Given the description of an element on the screen output the (x, y) to click on. 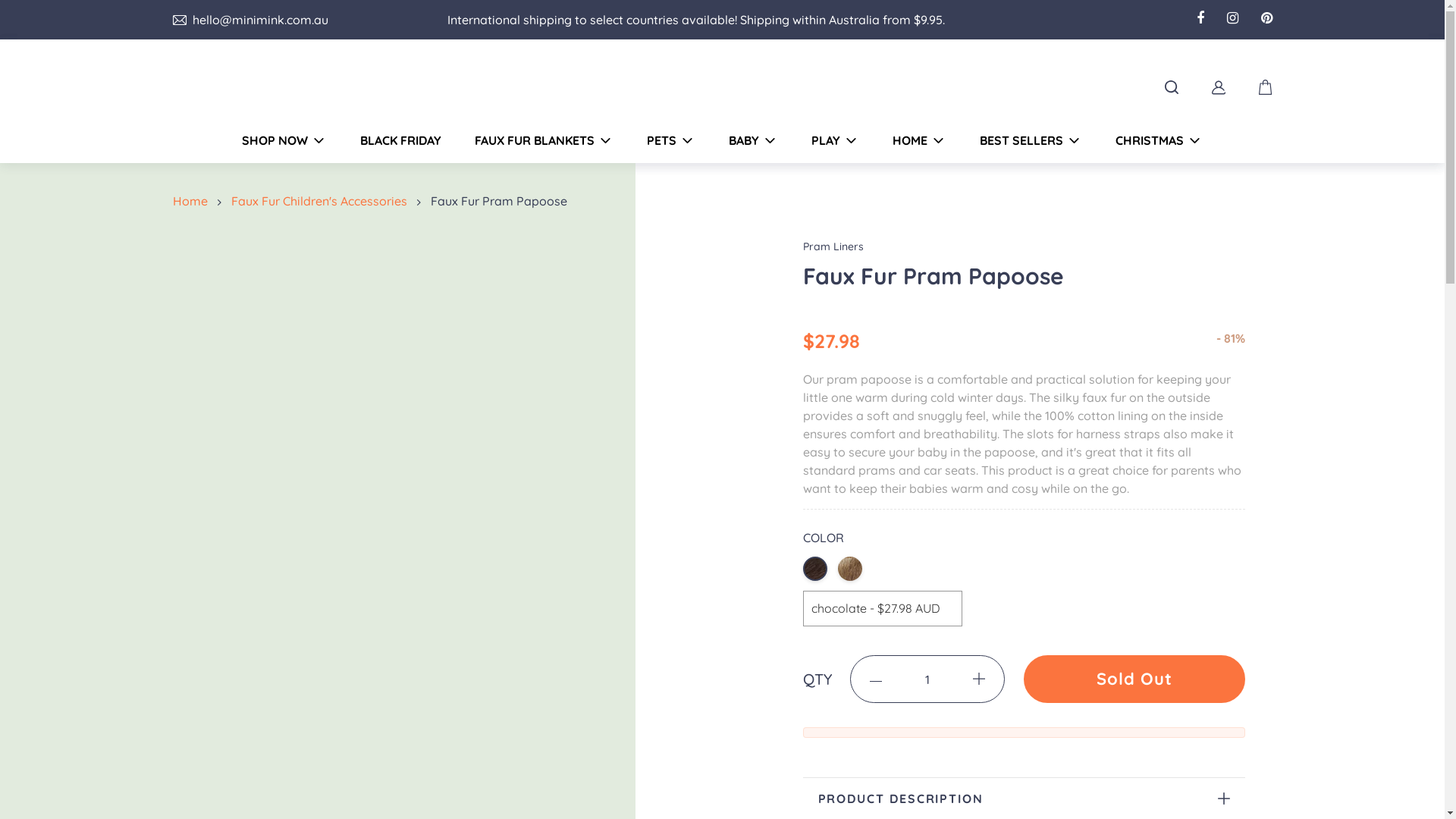
PETS Element type: text (670, 140)
Log in Element type: hover (1218, 86)
HOME Element type: text (919, 140)
Faux Fur Children'S Accessories Element type: text (320, 200)
PLAY Element type: text (835, 140)
Home Element type: text (192, 200)
loading...
Sold Out Element type: text (1134, 678)
BLACK FRIDAY Element type: text (400, 140)
hello@minimink.com.au Element type: text (257, 19)
FAUX FUR BLANKETS Element type: text (543, 140)
BABY Element type: text (753, 140)
CHRISTMAS Element type: text (1158, 140)
BEST SELLERS Element type: text (1030, 140)
SHOP NOW Element type: text (284, 140)
